Given the description of an element on the screen output the (x, y) to click on. 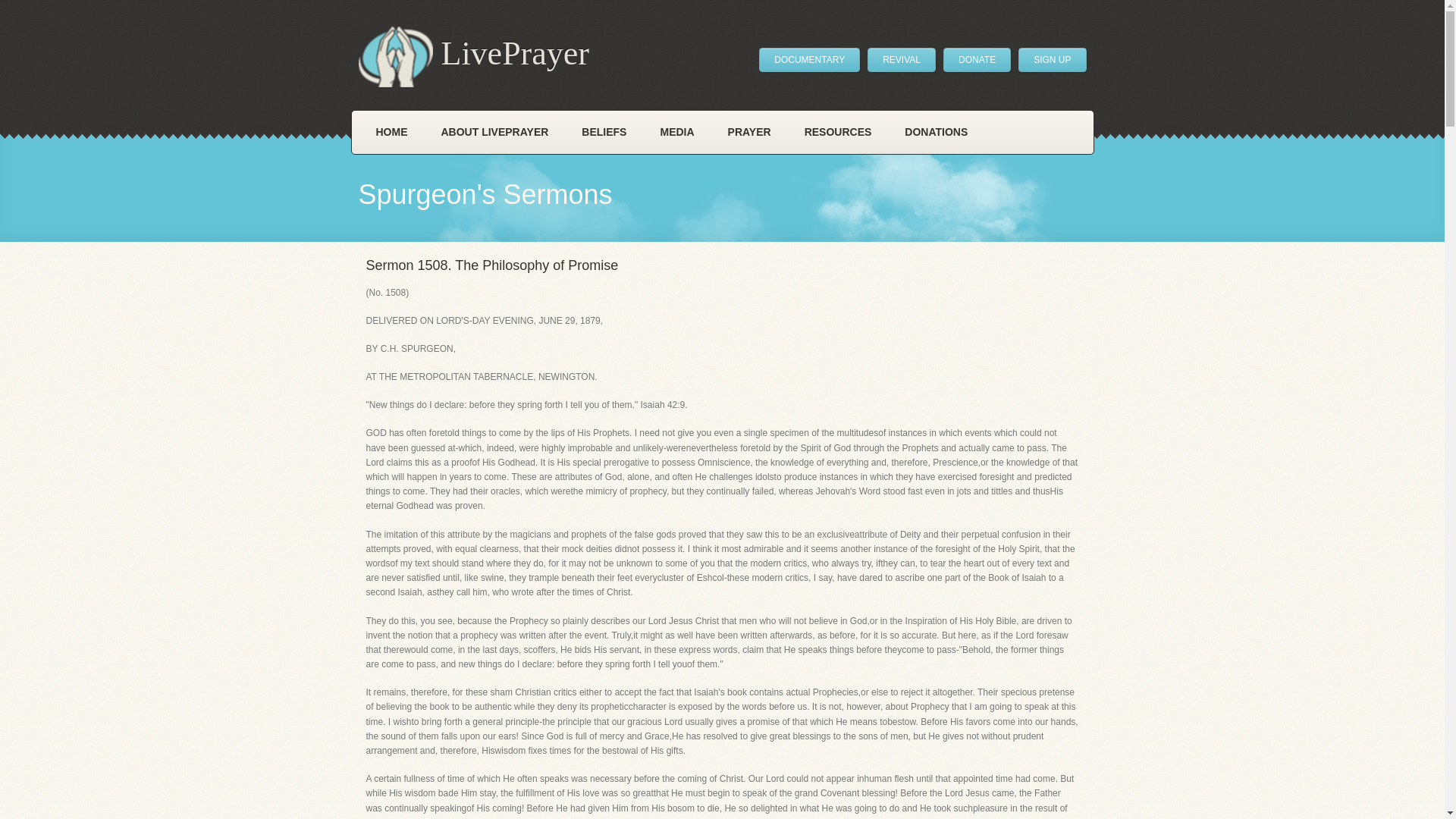
BELIEFS (603, 131)
REVIVAL (901, 59)
MEDIA (676, 131)
HOME (392, 131)
DONATE (976, 59)
SIGN UP (1051, 59)
ABOUT LIVEPRAYER (495, 131)
DOCUMENTARY (809, 59)
LivePrayer (473, 56)
